Given the description of an element on the screen output the (x, y) to click on. 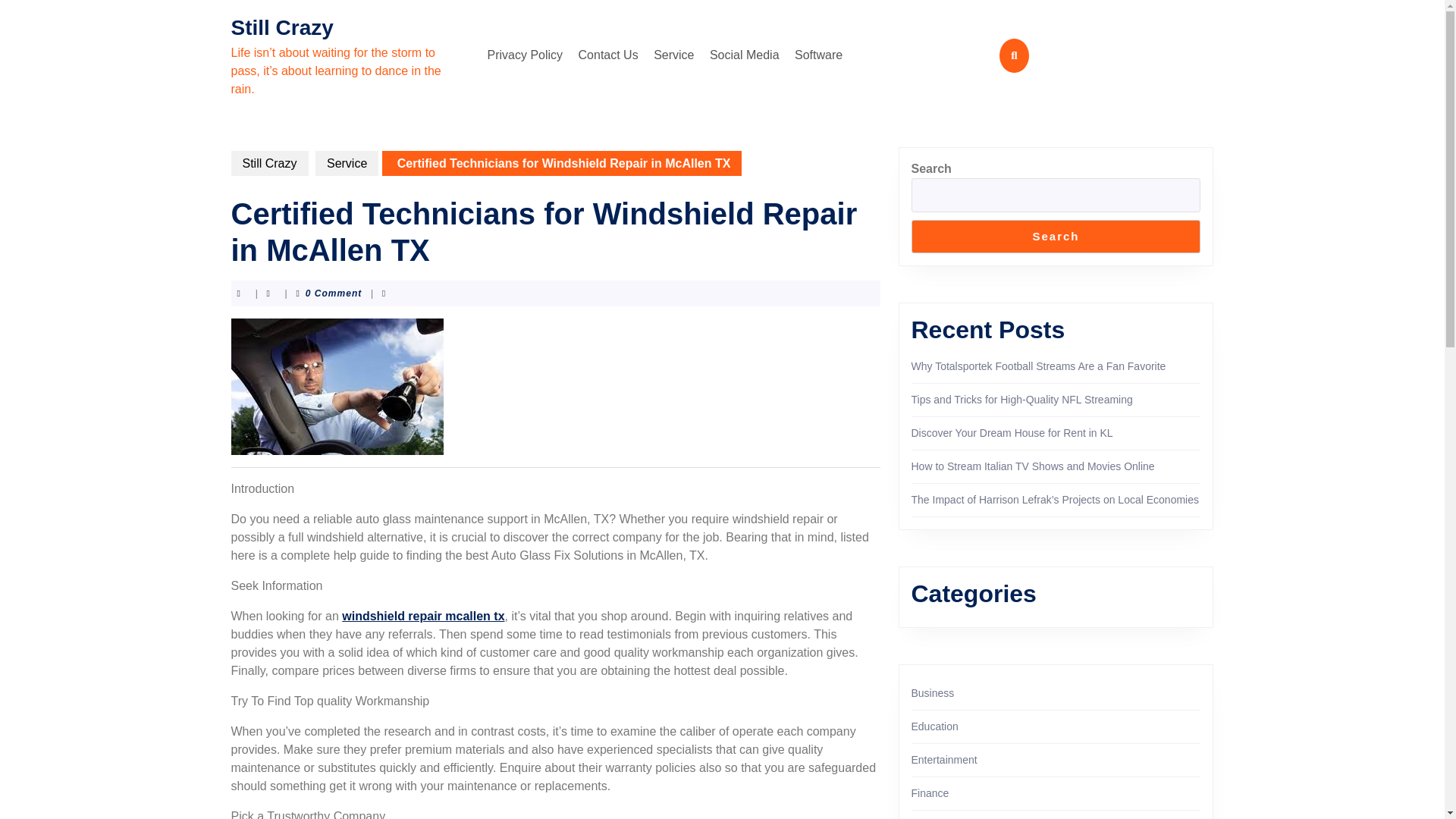
How to Stream Italian TV Shows and Movies Online (1032, 466)
Software (818, 55)
Entertainment (943, 759)
Service (346, 163)
Why Totalsportek Football Streams Are a Fan Favorite (1038, 366)
Social Media (744, 55)
Business (933, 693)
Search (1056, 236)
Contact Us (608, 55)
windshield repair mcallen tx (422, 615)
Finance (930, 793)
Education (934, 726)
Discover Your Dream House for Rent in KL (1012, 432)
Still Crazy (281, 27)
Service (673, 55)
